Given the description of an element on the screen output the (x, y) to click on. 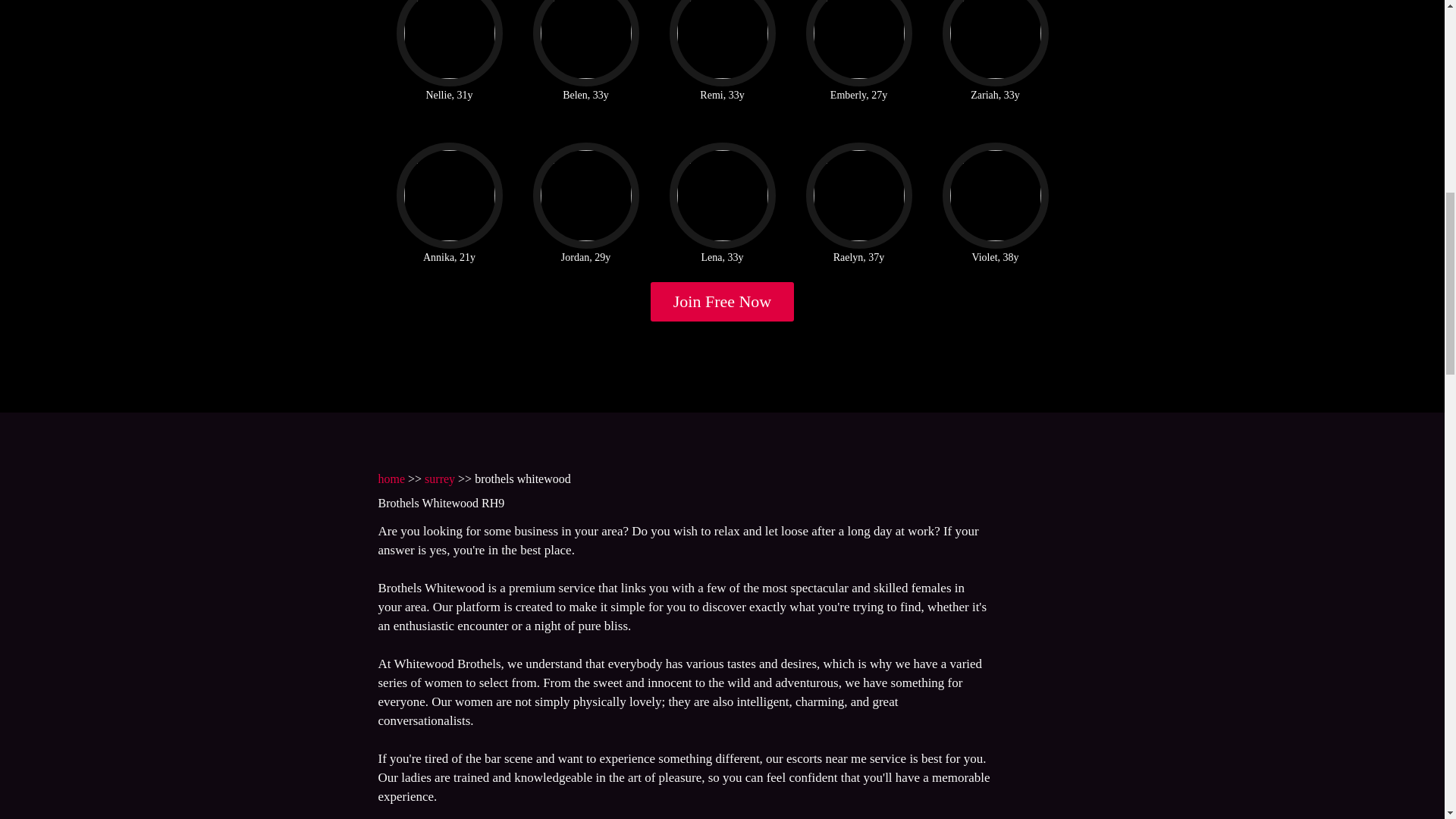
home (390, 478)
surrey (439, 478)
Join Free Now (722, 301)
Join (722, 301)
